Given the description of an element on the screen output the (x, y) to click on. 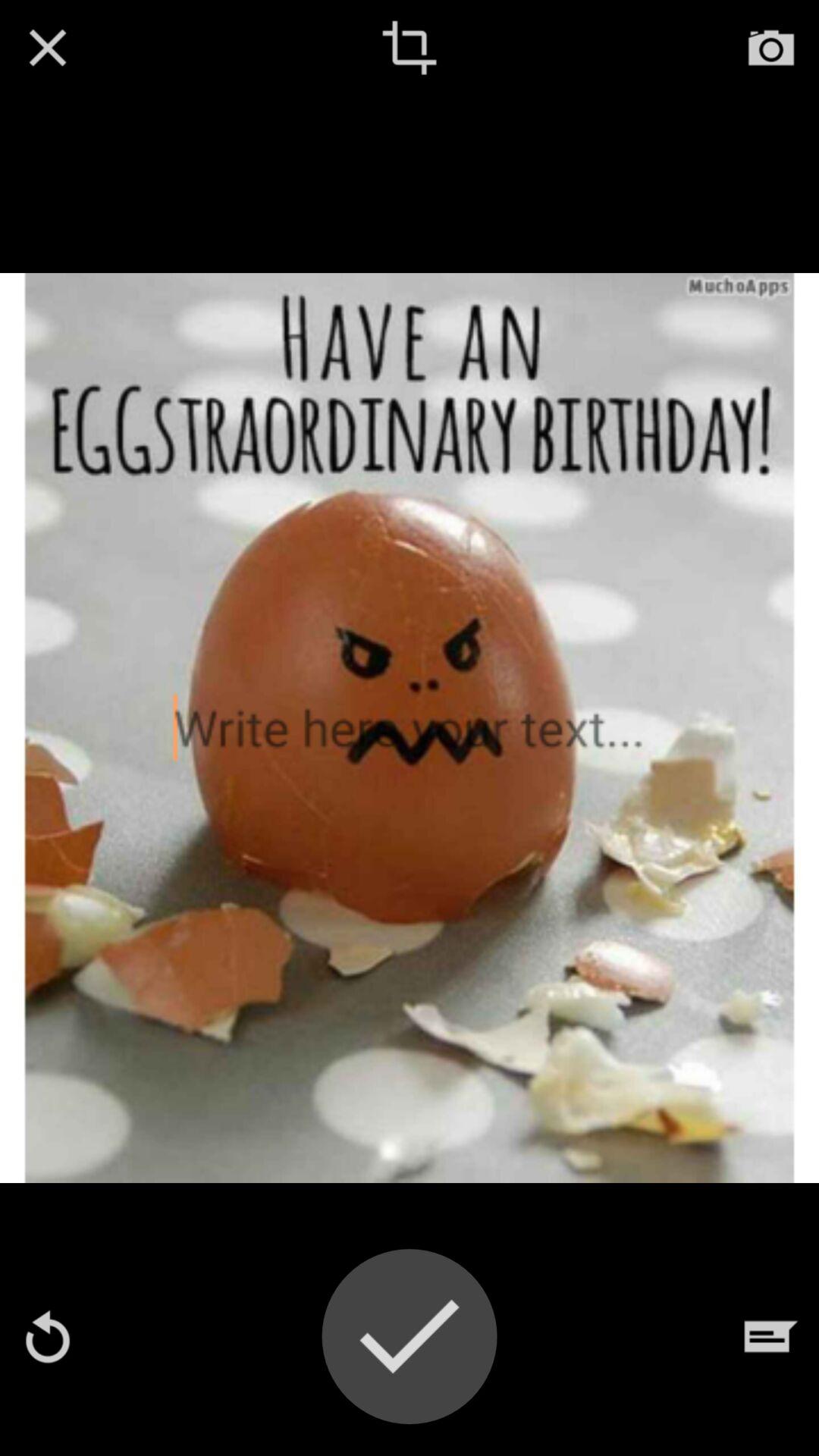
crop photo (409, 47)
